Given the description of an element on the screen output the (x, y) to click on. 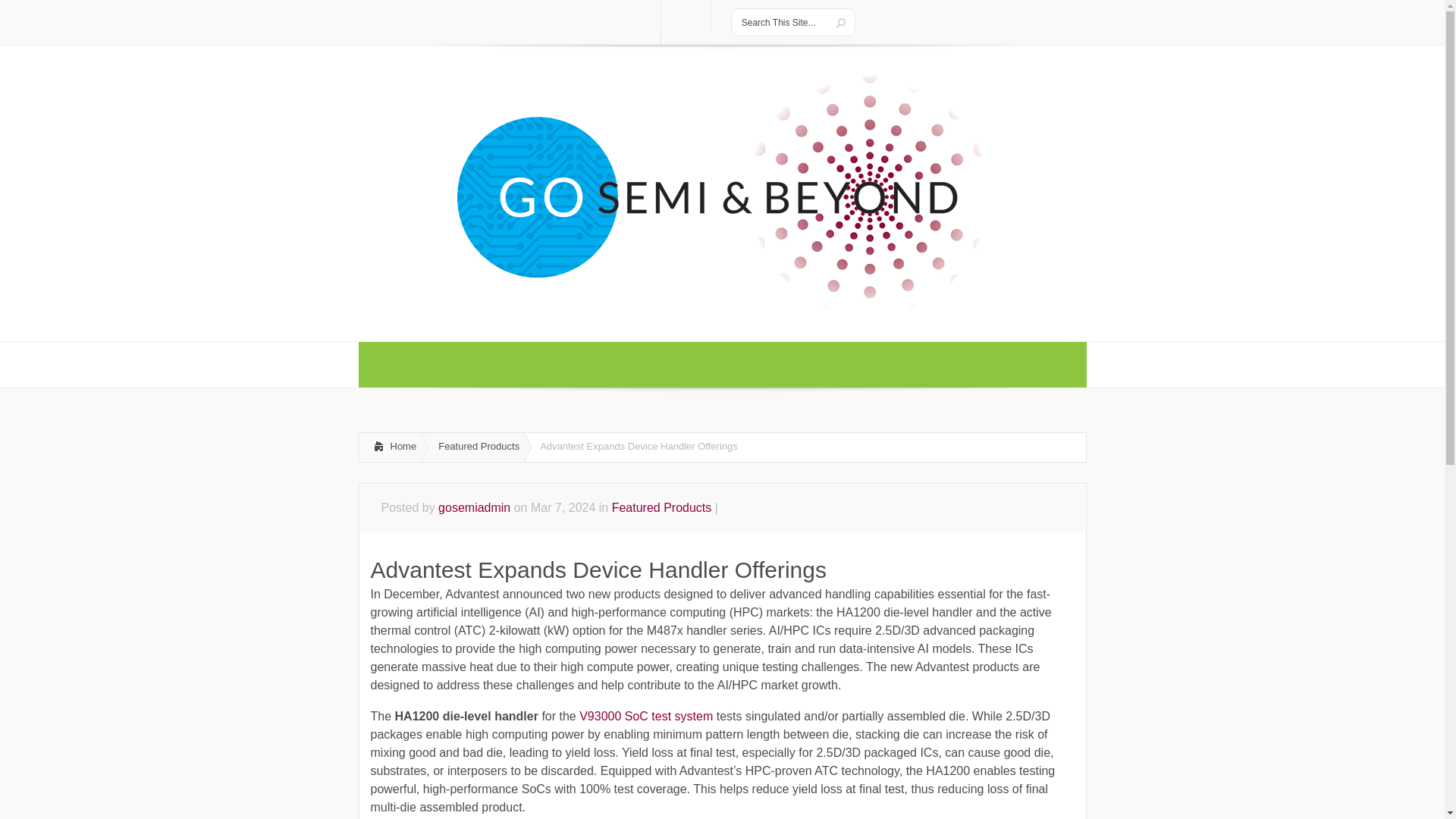
Featured Products (661, 507)
V93000 SoC test system (646, 716)
Featured Products (476, 447)
gosemiadmin (474, 507)
Posts by gosemiadmin (474, 507)
Search This Site... (780, 22)
Home (389, 447)
